Given the description of an element on the screen output the (x, y) to click on. 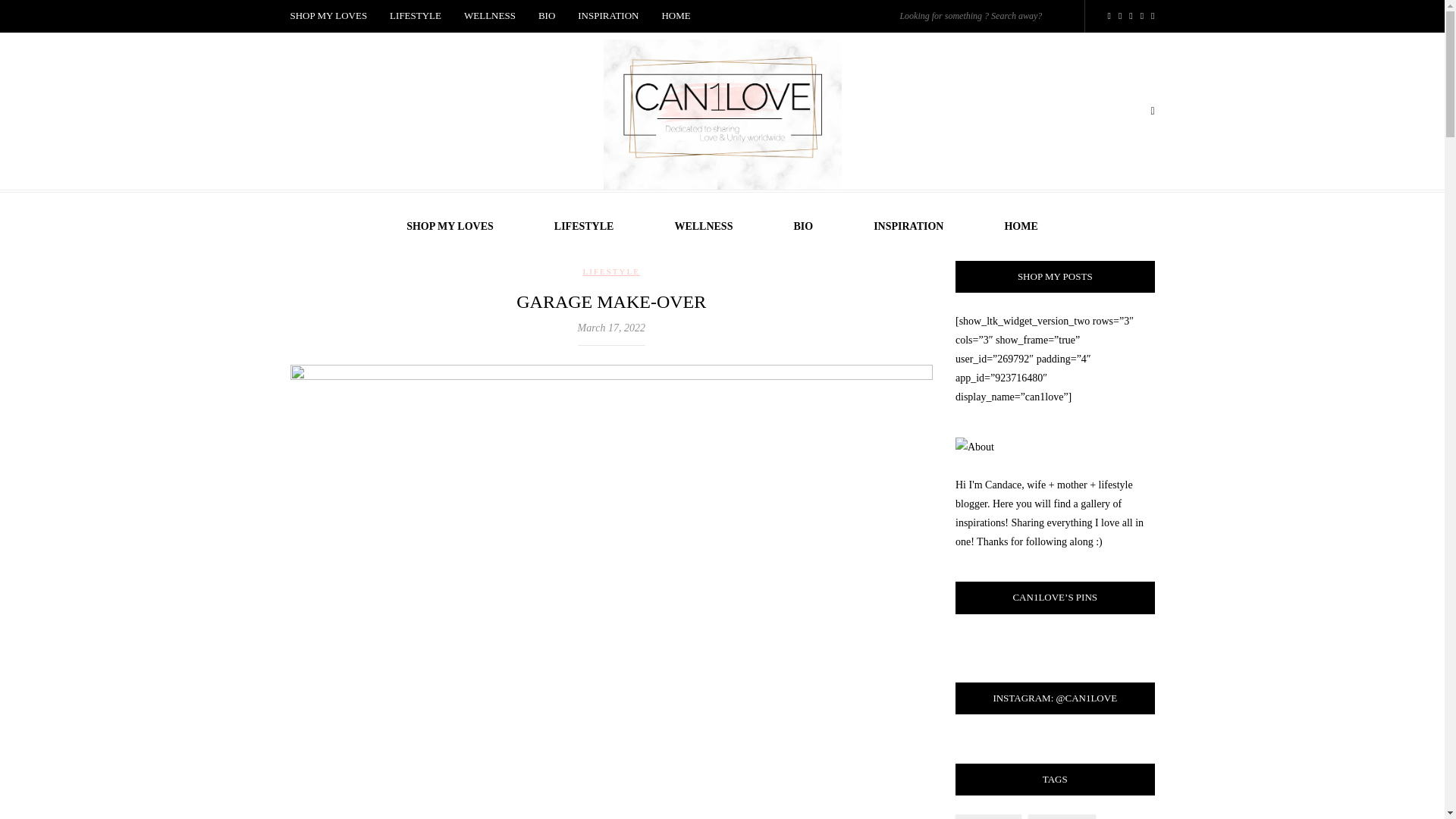
INSPIRATION (607, 16)
LIFESTYLE (611, 271)
WELLNESS (489, 16)
WELLNESS (702, 226)
BIO (546, 16)
HOME (1020, 226)
LIFESTYLE (415, 16)
SHOP MY LOVES (449, 226)
INSPIRATION (908, 226)
LIFESTYLE (584, 226)
